Given the description of an element on the screen output the (x, y) to click on. 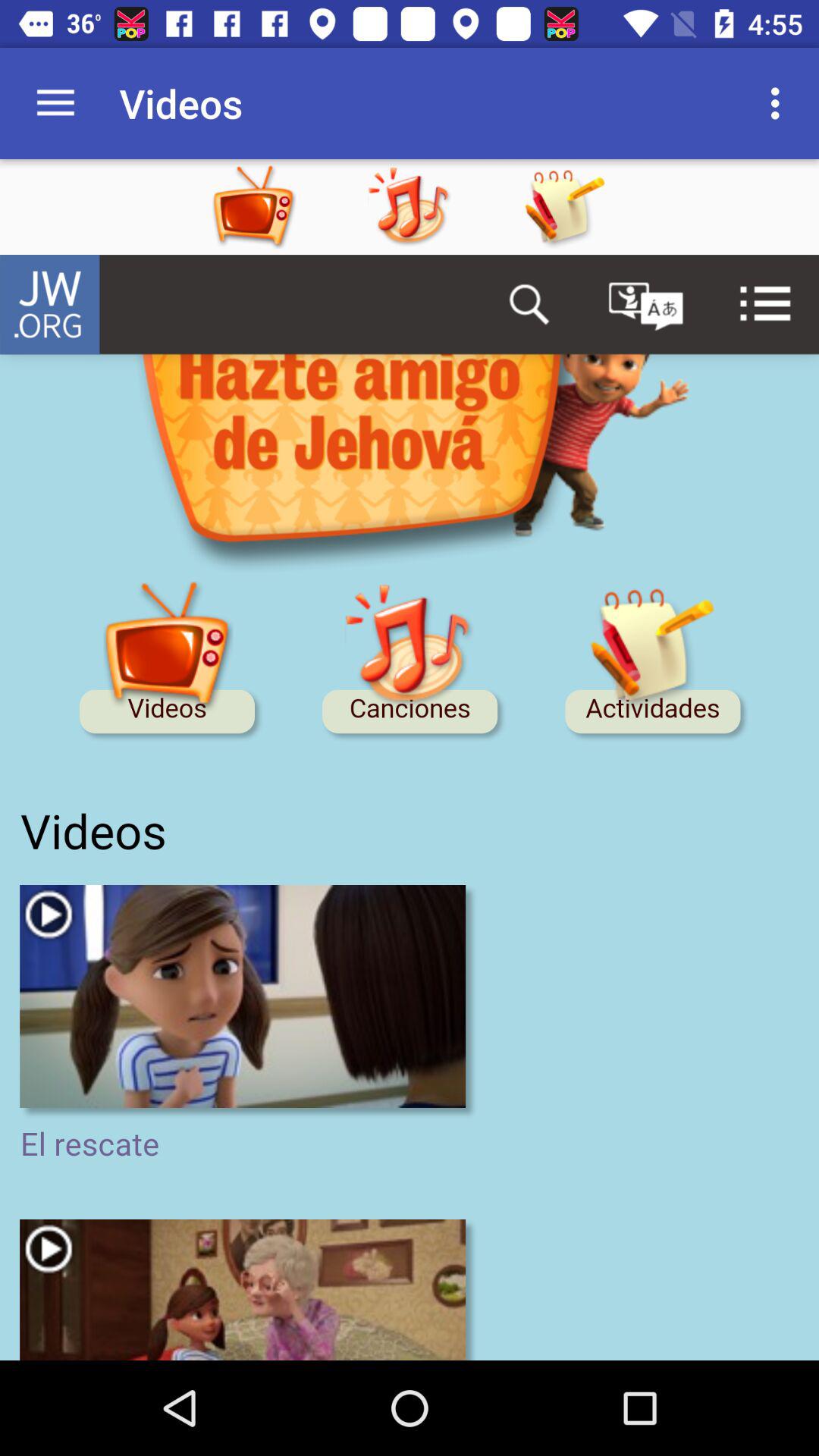
diskgrassland (409, 807)
